Given the description of an element on the screen output the (x, y) to click on. 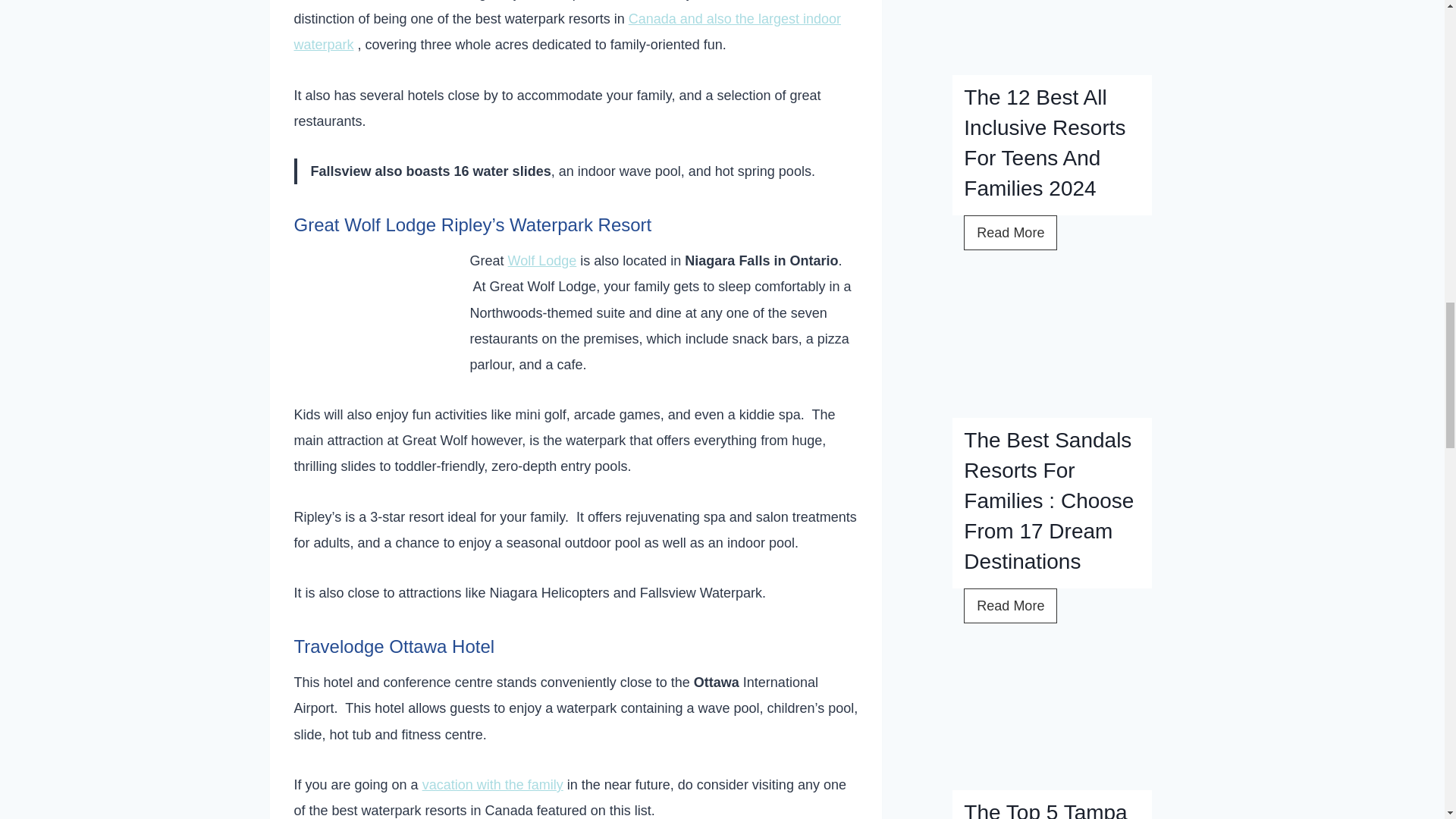
Great Wolf Lodge (369, 323)
